Given the description of an element on the screen output the (x, y) to click on. 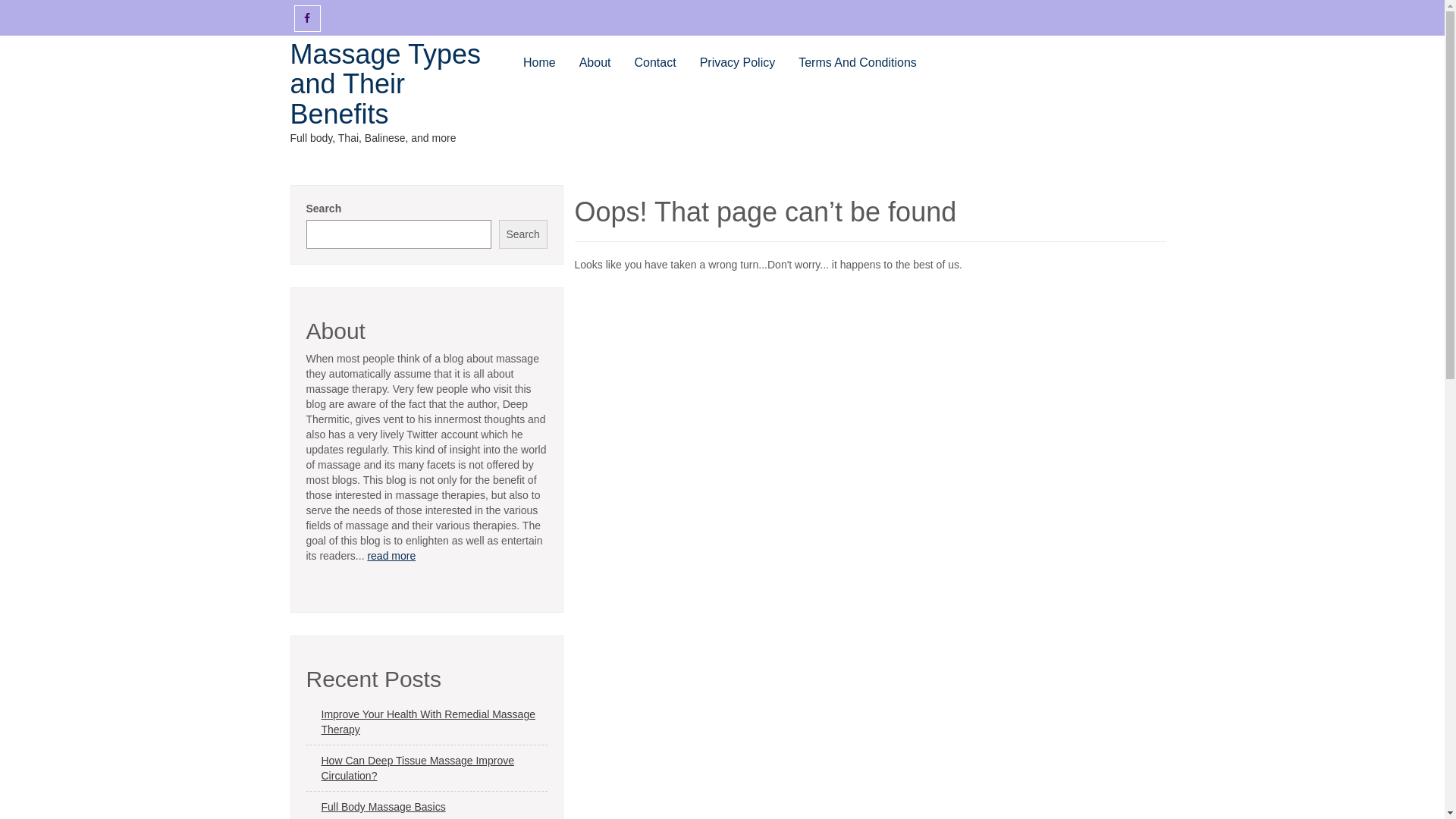
Terms And Conditions Element type: text (857, 63)
Home Element type: text (539, 63)
Massage Types and Their Benefits Element type: text (384, 83)
How Can Deep Tissue Massage Improve Circulation? Element type: text (426, 768)
read more Element type: text (391, 555)
Contact Element type: text (654, 63)
Improve Your Health With Remedial Massage Therapy Element type: text (426, 722)
Privacy Policy Element type: text (737, 63)
Facebook Element type: hover (307, 18)
Search Element type: text (522, 233)
About Element type: text (595, 63)
